Given the description of an element on the screen output the (x, y) to click on. 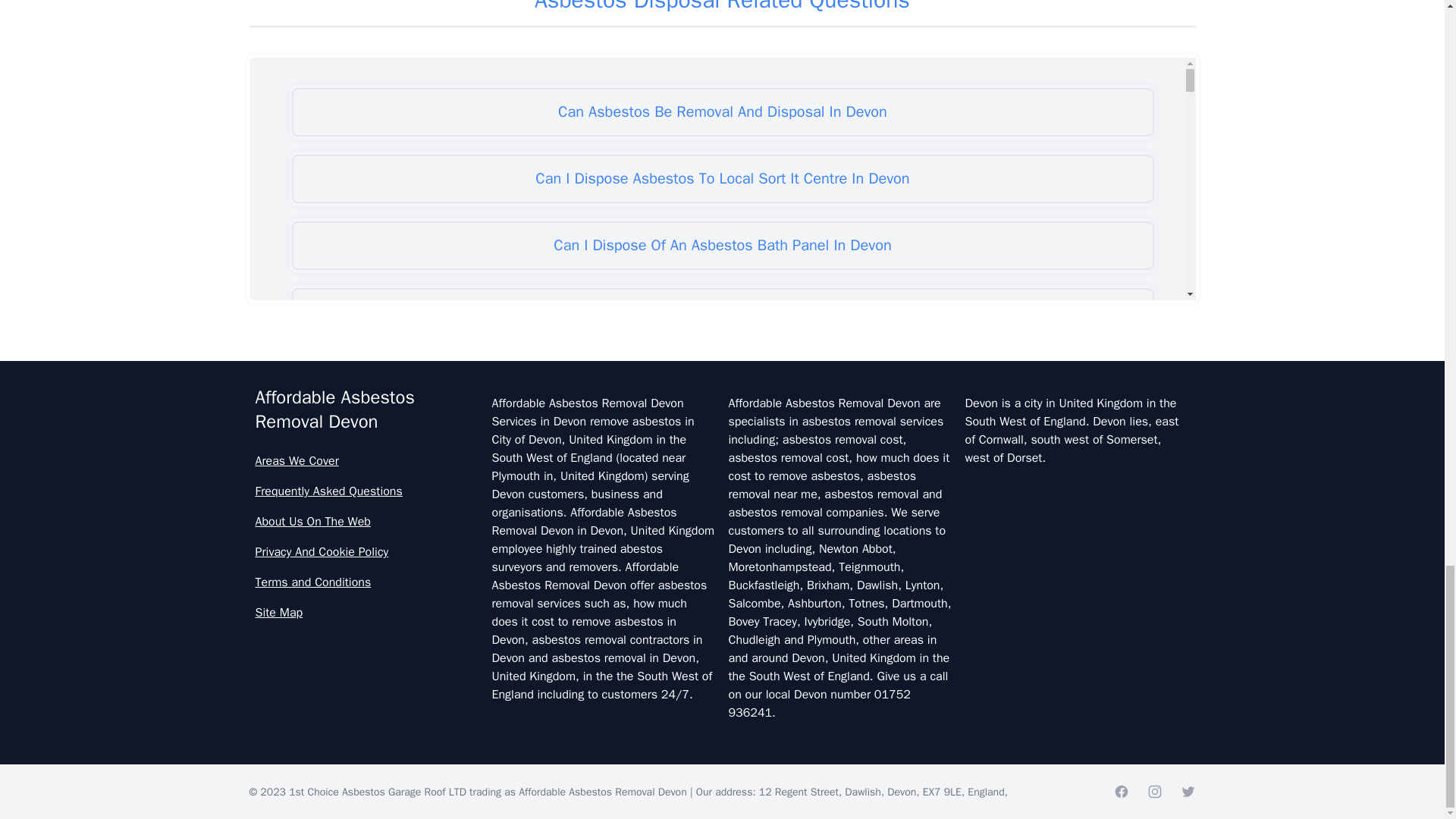
Can You Dispose Asbestos For Free In Devon (722, 579)
Can You Dispose Of Asbestos Yourself In Devon (722, 712)
Can I Dispose Asbestos To Local Sort It Centre In Devon (722, 178)
Can I Dispose Of An Asbestos Bath Panel In Devon (722, 245)
Can You Dispose Of Asbestos At The Tip In Devon (722, 645)
Can I Dispose Of Asbestos At My Local Tip In Devon (722, 312)
Can I Dispose Of Asbestos Myself In Devon (722, 445)
Do Disposable Face Masks Contain Asbestos In Devon (722, 779)
Can I Dispose Of Asbestos In Devon (722, 378)
Site Map (366, 612)
